Given the description of an element on the screen output the (x, y) to click on. 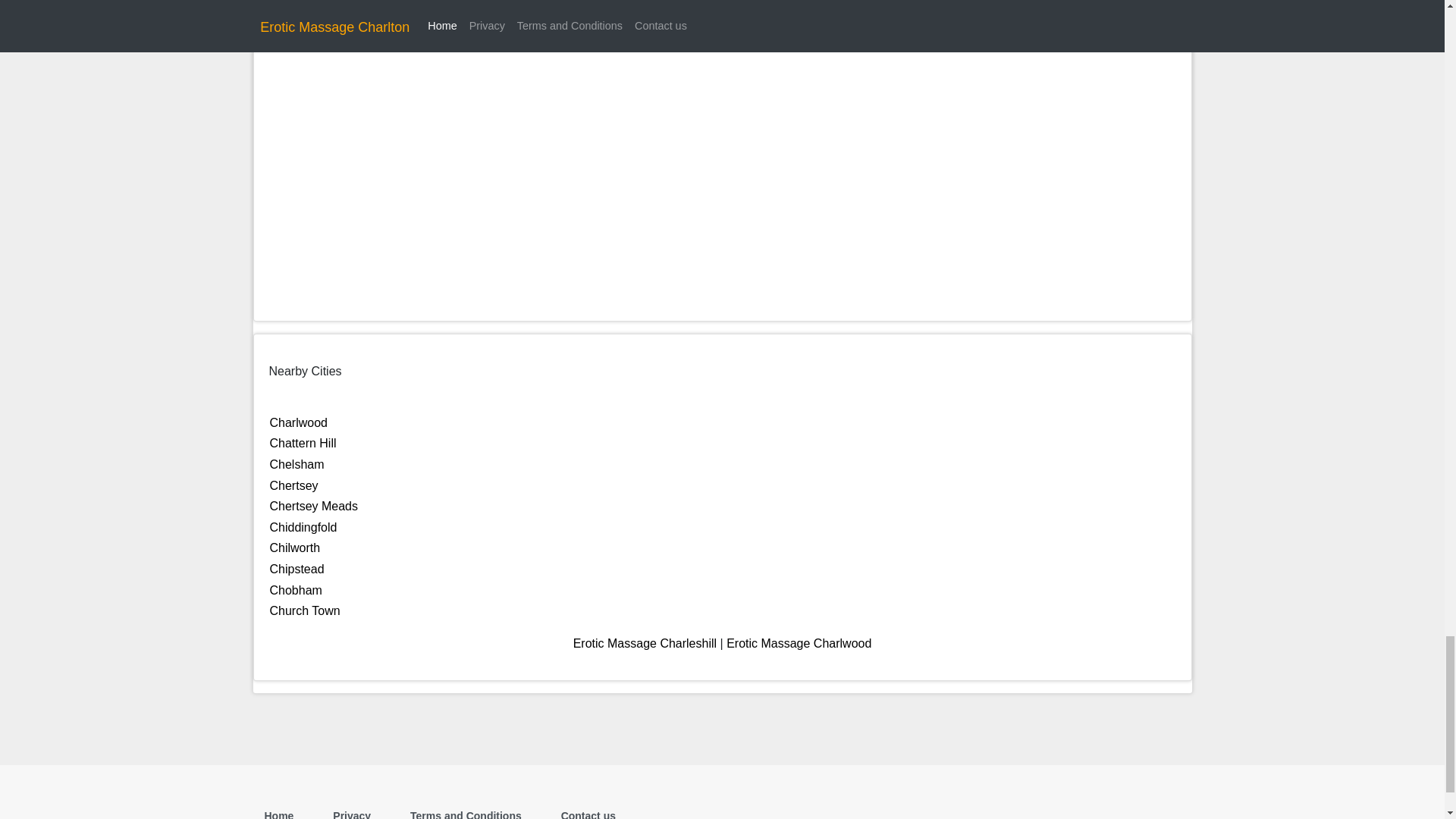
Chattern Hill (302, 442)
Chobham (295, 590)
Chelsham (296, 463)
Chiddingfold (303, 526)
Erotic Massage Charlwood (798, 643)
Chipstead (296, 568)
Chilworth (294, 547)
Chertsey (293, 485)
Charlwood (298, 422)
Chertsey Meads (313, 505)
